Given the description of an element on the screen output the (x, y) to click on. 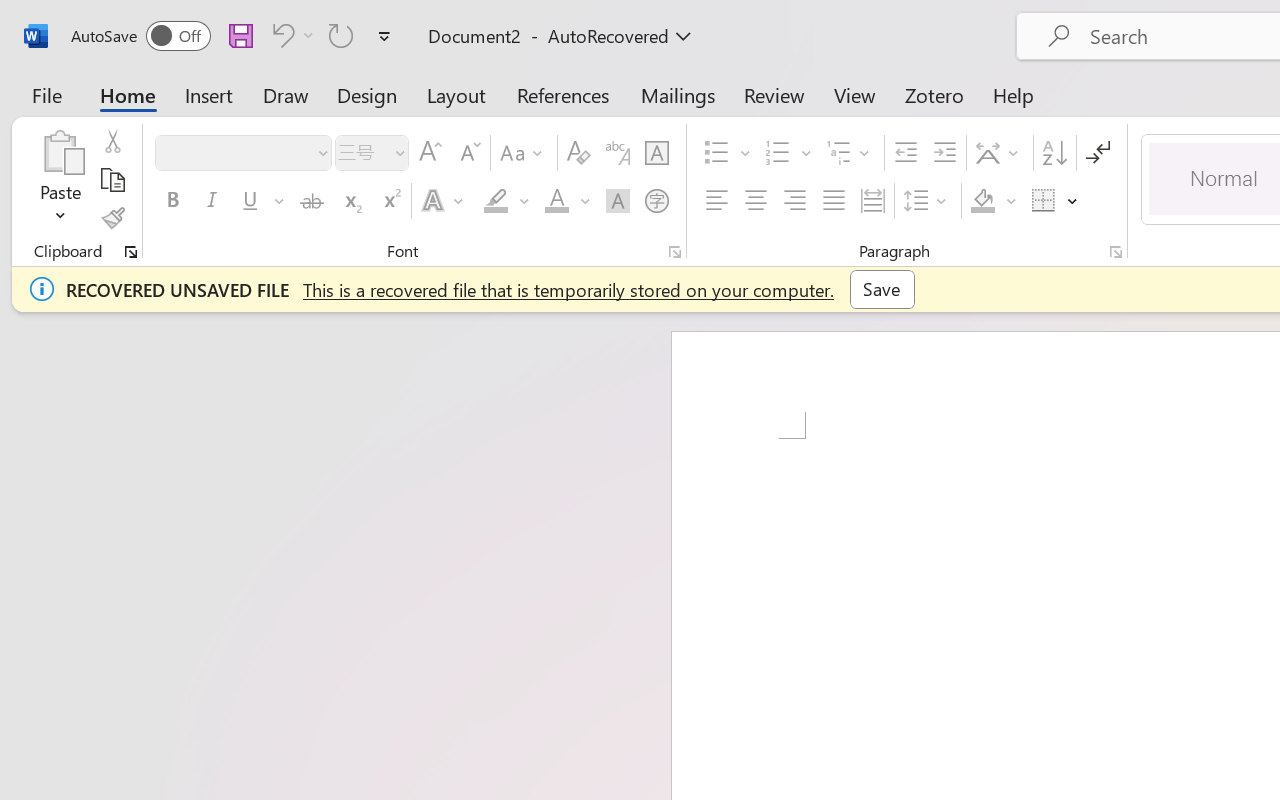
Cut (112, 141)
